Given the description of an element on the screen output the (x, y) to click on. 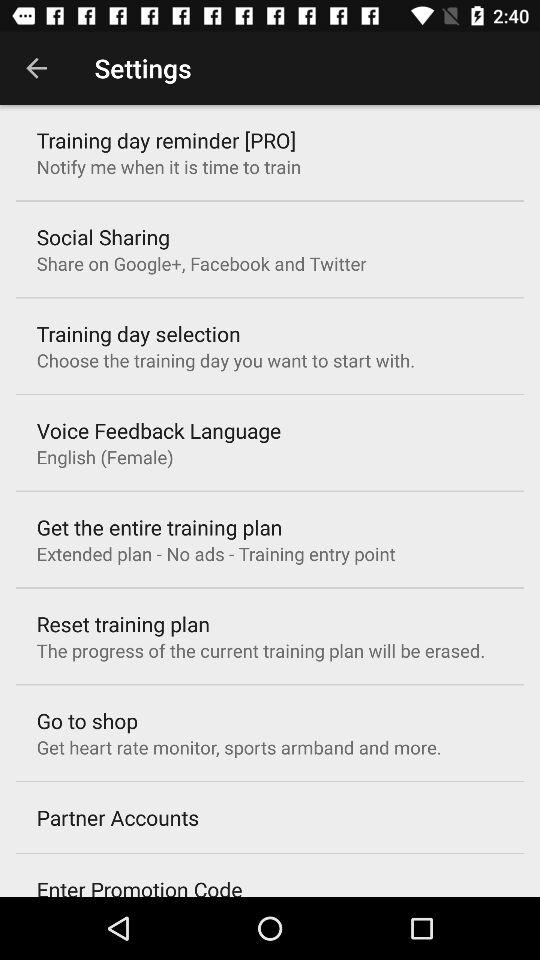
turn on item above training day reminder icon (36, 68)
